Given the description of an element on the screen output the (x, y) to click on. 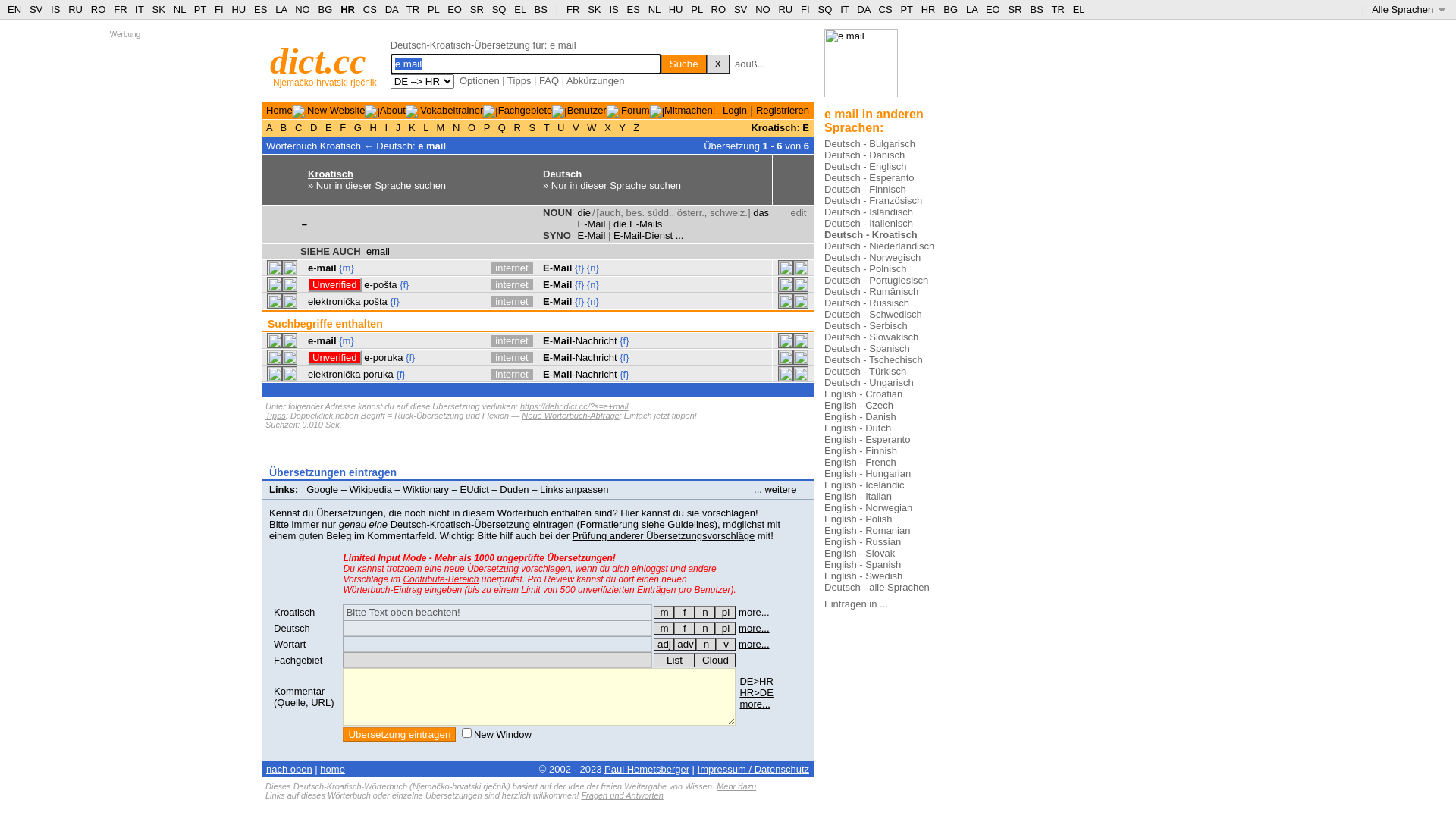
Deutsch - Portugiesisch Element type: text (876, 279)
n Element type: text (704, 611)
e-mail Element type: text (321, 267)
G Element type: text (357, 127)
Deutsch - Tschechisch Element type: text (873, 359)
HR Element type: text (347, 9)
SQ Element type: text (824, 9)
email Element type: text (377, 251)
X Element type: text (717, 63)
List Element type: text (673, 659)
NL Element type: text (179, 9)
TR Element type: text (1057, 9)
E-Mail-Nachricht Element type: text (579, 340)
... weitere Element type: text (779, 489)
Fragen und Antworten Element type: text (621, 795)
adv Element type: text (685, 643)
poruka Element type: text (378, 373)
N Element type: text (455, 127)
SK Element type: text (158, 9)
Deutsch Element type: text (291, 627)
adj Element type: text (663, 643)
RU Element type: text (785, 9)
Links anpassen Element type: text (573, 489)
FI Element type: text (804, 9)
SV Element type: text (740, 9)
I Element type: text (386, 127)
Kroatisch Element type: text (330, 173)
English - Norwegian Element type: text (868, 507)
n Element type: text (705, 643)
DE>HR Element type: text (755, 681)
pl Element type: text (725, 611)
E Element type: text (328, 127)
PT Element type: text (200, 9)
internet Element type: text (511, 301)
HU Element type: text (675, 9)
Wiktionary Element type: text (425, 489)
Optionen Element type: text (479, 80)
Forum Element type: text (635, 110)
Guidelines Element type: text (690, 524)
Deutsch - Russisch Element type: text (866, 302)
EUdict Element type: text (474, 489)
Q Element type: text (501, 127)
Unverified Element type: text (334, 284)
m Element type: text (663, 627)
Registrieren Element type: text (782, 110)
https://dehr.dict.cc/?s=e+mail Element type: text (574, 406)
English - Slovak Element type: text (859, 552)
internet Element type: text (511, 373)
EL Element type: text (1079, 9)
English - Finnish Element type: text (860, 450)
Deutsch - Englisch Element type: text (865, 166)
SQ Element type: text (499, 9)
Deutsch - Ungarisch Element type: text (868, 382)
E-Mail-Dienst Element type: text (642, 235)
BS Element type: text (1035, 9)
f Element type: text (684, 611)
Deutsch - Esperanto Element type: text (869, 177)
S Element type: text (532, 127)
Deutsch - Schwedisch Element type: text (873, 314)
English - Italian Element type: text (857, 496)
Fachgebiete Element type: text (525, 110)
C Element type: text (297, 127)
HU Element type: text (238, 9)
Duden Element type: text (513, 489)
English - Danish Element type: text (860, 416)
die E-Mails Element type: text (637, 223)
ES Element type: text (260, 9)
Mehr dazu Element type: text (736, 785)
FR Element type: text (572, 9)
Deutsch - Kroatisch Element type: text (870, 234)
Suche Element type: text (683, 63)
English - French Element type: text (860, 461)
English - Swedish Element type: text (863, 575)
L Element type: text (425, 127)
more... Element type: text (753, 643)
pl Element type: text (725, 627)
DA Element type: text (391, 9)
E-Mail Element type: text (591, 235)
IS Element type: text (613, 9)
more... Element type: text (754, 703)
E-Mail Element type: text (556, 284)
R Element type: text (517, 127)
internet Element type: text (511, 340)
TR Element type: text (412, 9)
English - Russian Element type: text (862, 541)
Google Element type: text (322, 489)
T Element type: text (546, 127)
Login Element type: text (734, 110)
e-mail Element type: text (321, 340)
Deutsch - Slowakisch Element type: text (871, 336)
Nur in dieser Sprache suchen Element type: text (380, 185)
RO Element type: text (98, 9)
About Element type: text (392, 110)
internet Element type: text (511, 357)
J Element type: text (397, 127)
...  Element type: text (684, 235)
U Element type: text (560, 127)
English - Spanish Element type: text (862, 564)
Deutsch - Polnisch Element type: text (865, 268)
Deutsch - Norwegisch Element type: text (872, 257)
IS Element type: text (54, 9)
EO Element type: text (992, 9)
EL Element type: text (519, 9)
Kroatisch: E Element type: text (779, 127)
Home Element type: text (279, 110)
CS Element type: text (369, 9)
PL Element type: text (696, 9)
IT Element type: text (138, 9)
E-Mail-Nachricht Element type: text (579, 373)
E-Mail Element type: text (556, 267)
HR>DE Element type: text (755, 692)
Deutsch - Italienisch Element type: text (868, 223)
English - Polish Element type: text (858, 518)
FAQ Element type: text (548, 80)
v Element type: text (725, 643)
E-Mail Element type: text (556, 301)
PL Element type: text (433, 9)
e mail Element type: hover (860, 66)
FI Element type: text (218, 9)
edit Element type: text (798, 212)
DA Element type: text (862, 9)
Deutsch - alle Sprachen Element type: text (876, 587)
e-poruka Element type: text (383, 357)
Tipps Element type: text (275, 415)
HR Element type: text (928, 9)
Unverified Element type: text (334, 357)
Nur in dieser Sprache suchen Element type: text (615, 185)
V Element type: text (575, 127)
internet Element type: text (511, 267)
srednji rod Element type: hover (704, 611)
Deutsch - Bulgarisch Element type: text (869, 143)
Z Element type: text (636, 127)
Eintragen in ... Element type: text (856, 602)
Deutsch - Finnisch Element type: text (865, 188)
internet Element type: text (511, 284)
f Element type: text (684, 627)
Kroatisch Element type: text (293, 612)
Wikipedia Element type: text (370, 489)
more... Element type: text (753, 612)
P Element type: text (486, 127)
SV Element type: text (35, 9)
more... Element type: text (753, 627)
E-Mail-Nachricht Element type: text (579, 357)
dict.cc Element type: text (317, 60)
CS Element type: text (884, 9)
F Element type: text (342, 127)
ES Element type: text (633, 9)
die - Mehrzahl (Plural) Element type: hover (725, 627)
B Element type: text (283, 127)
English - Dutch Element type: text (857, 427)
Y Element type: text (621, 127)
English - Czech Element type: text (858, 405)
RO Element type: text (718, 9)
English - Icelandic Element type: text (864, 484)
LA Element type: text (971, 9)
EO Element type: text (454, 9)
English - Esperanto Element type: text (867, 439)
H Element type: text (373, 127)
EN Element type: text (14, 9)
Deutsch - Serbisch Element type: text (865, 325)
New Website Element type: text (335, 110)
Alle Sprachen  Element type: text (1408, 9)
BS Element type: text (540, 9)
PT Element type: text (906, 9)
IT Element type: text (844, 9)
X Element type: text (608, 127)
English - Croatian Element type: text (863, 393)
Contribute-Bereich Element type: text (440, 579)
die Element type: text (583, 212)
SR Element type: text (1015, 9)
SR Element type: text (476, 9)
e mail Element type: text (431, 144)
K Element type: text (411, 127)
Mitmachen! Element type: text (689, 110)
Benutzer Element type: text (586, 110)
Deutsch - Spanisch Element type: text (867, 348)
m Element type: text (663, 611)
FR Element type: text (119, 9)
BG Element type: text (950, 9)
home Element type: text (332, 769)
n Element type: text (704, 627)
English - Hungarian Element type: text (867, 473)
English - Romanian Element type: text (867, 530)
nach oben Element type: text (289, 769)
Cloud Element type: text (714, 659)
A Element type: text (270, 127)
M Element type: text (440, 127)
NO Element type: text (302, 9)
Paul Hemetsberger Element type: text (646, 769)
RU Element type: text (75, 9)
NL Element type: text (654, 9)
D Element type: text (313, 127)
LA Element type: text (280, 9)
NO Element type: text (762, 9)
Tipps Element type: text (518, 80)
die - weiblich (Femininum) Element type: hover (684, 627)
Impressum / Datenschutz Element type: text (753, 769)
Vokabeltrainer Element type: text (451, 110)
O Element type: text (470, 127)
SK Element type: text (593, 9)
W Element type: text (591, 127)
BG Element type: text (325, 9)
